Given the description of an element on the screen output the (x, y) to click on. 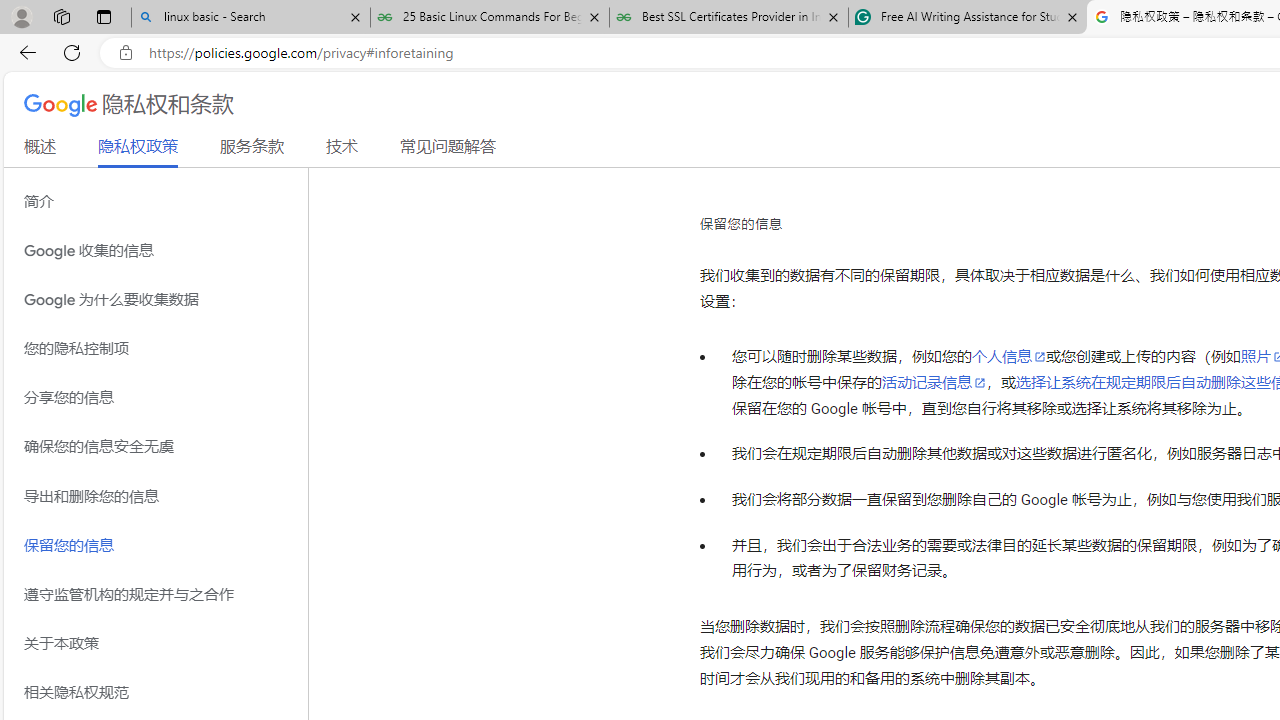
25 Basic Linux Commands For Beginners - GeeksforGeeks (490, 17)
linux basic - Search (250, 17)
Best SSL Certificates Provider in India - GeeksforGeeks (729, 17)
Free AI Writing Assistance for Students | Grammarly (967, 17)
